Given the description of an element on the screen output the (x, y) to click on. 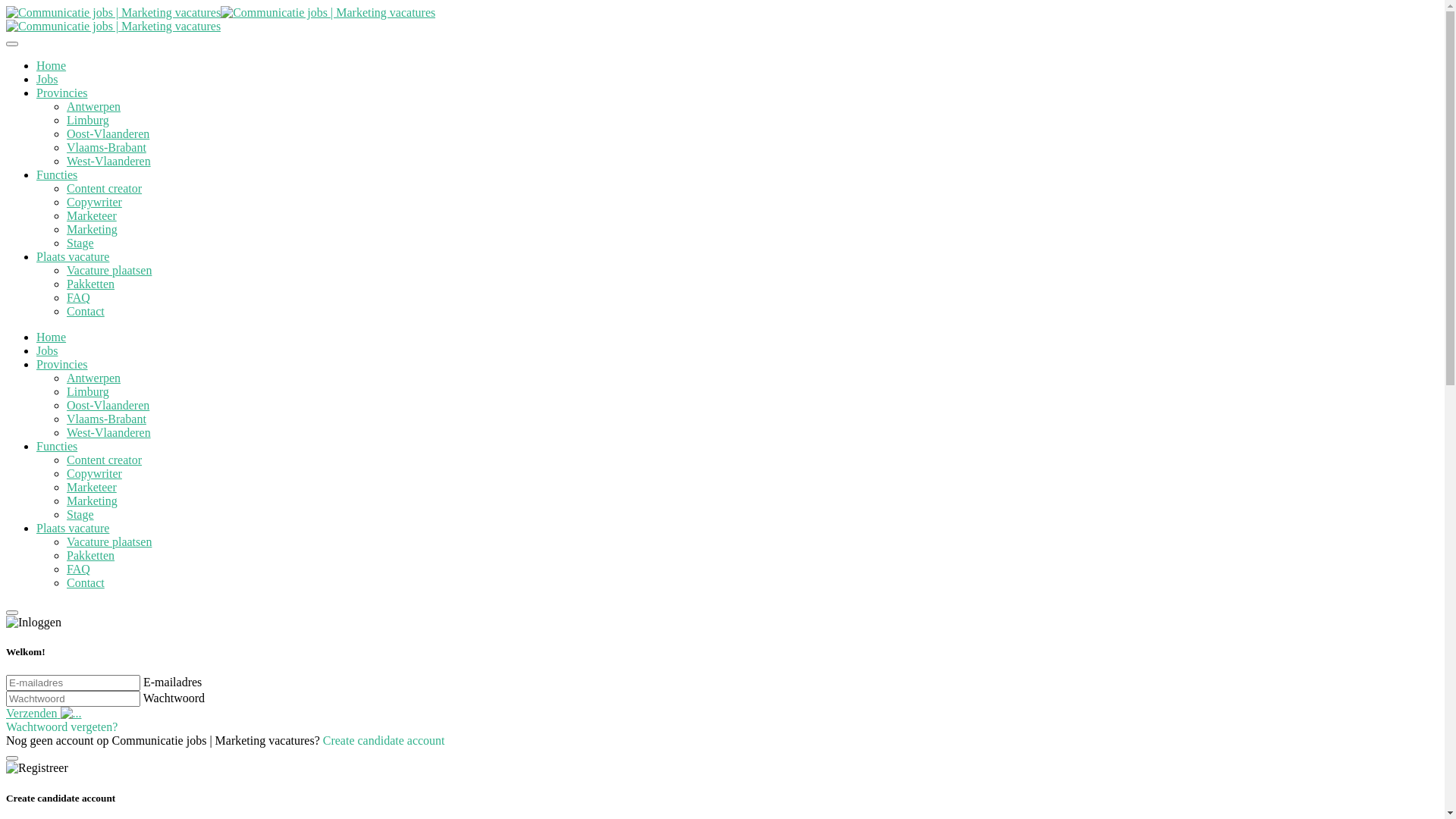
Vacature plaatsen Element type: text (108, 541)
Provincies Element type: text (61, 92)
Plaats vacature Element type: text (72, 256)
West-Vlaanderen Element type: text (108, 160)
FAQ Element type: text (78, 297)
Create candidate account Element type: text (384, 740)
Marketing Element type: text (91, 228)
Limburg Element type: text (87, 391)
Marketeer Element type: text (91, 486)
Home Element type: text (50, 336)
Limburg Element type: text (87, 119)
Verzenden Element type: text (43, 712)
Stage Element type: text (80, 242)
Jobs Element type: text (46, 350)
Antwerpen Element type: text (93, 377)
Home Element type: text (50, 65)
Contact Element type: text (85, 582)
Wachtwoord vergeten? Element type: text (61, 726)
Marketing Element type: text (91, 500)
Vacature plaatsen Element type: text (108, 269)
FAQ Element type: text (78, 568)
Plaats vacature Element type: text (72, 527)
Copywriter Element type: text (94, 473)
Vlaams-Brabant Element type: text (106, 147)
Marketeer Element type: text (91, 215)
Contact Element type: text (85, 310)
Functies Element type: text (56, 174)
Content creator Element type: text (103, 188)
Oost-Vlaanderen Element type: text (107, 404)
Provincies Element type: text (61, 363)
Vlaams-Brabant Element type: text (106, 418)
Jobs Element type: text (46, 78)
Copywriter Element type: text (94, 201)
Stage Element type: text (80, 514)
Functies Element type: text (56, 445)
Pakketten Element type: text (90, 283)
Content creator Element type: text (103, 459)
Pakketten Element type: text (90, 555)
Antwerpen Element type: text (93, 106)
Oost-Vlaanderen Element type: text (107, 133)
West-Vlaanderen Element type: text (108, 432)
